Given the description of an element on the screen output the (x, y) to click on. 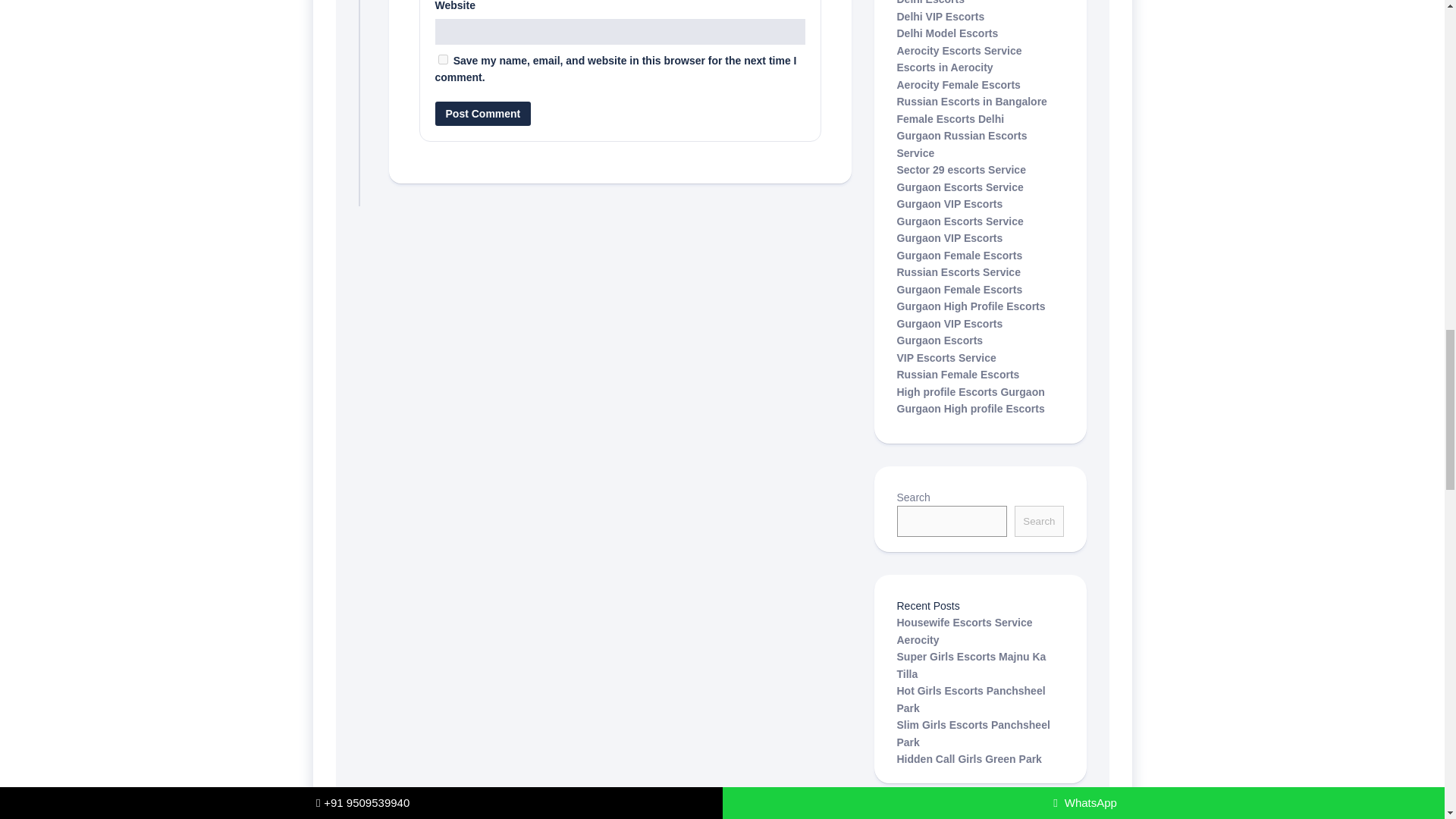
yes (443, 59)
Post Comment (483, 113)
Post Comment (483, 113)
